Given the description of an element on the screen output the (x, y) to click on. 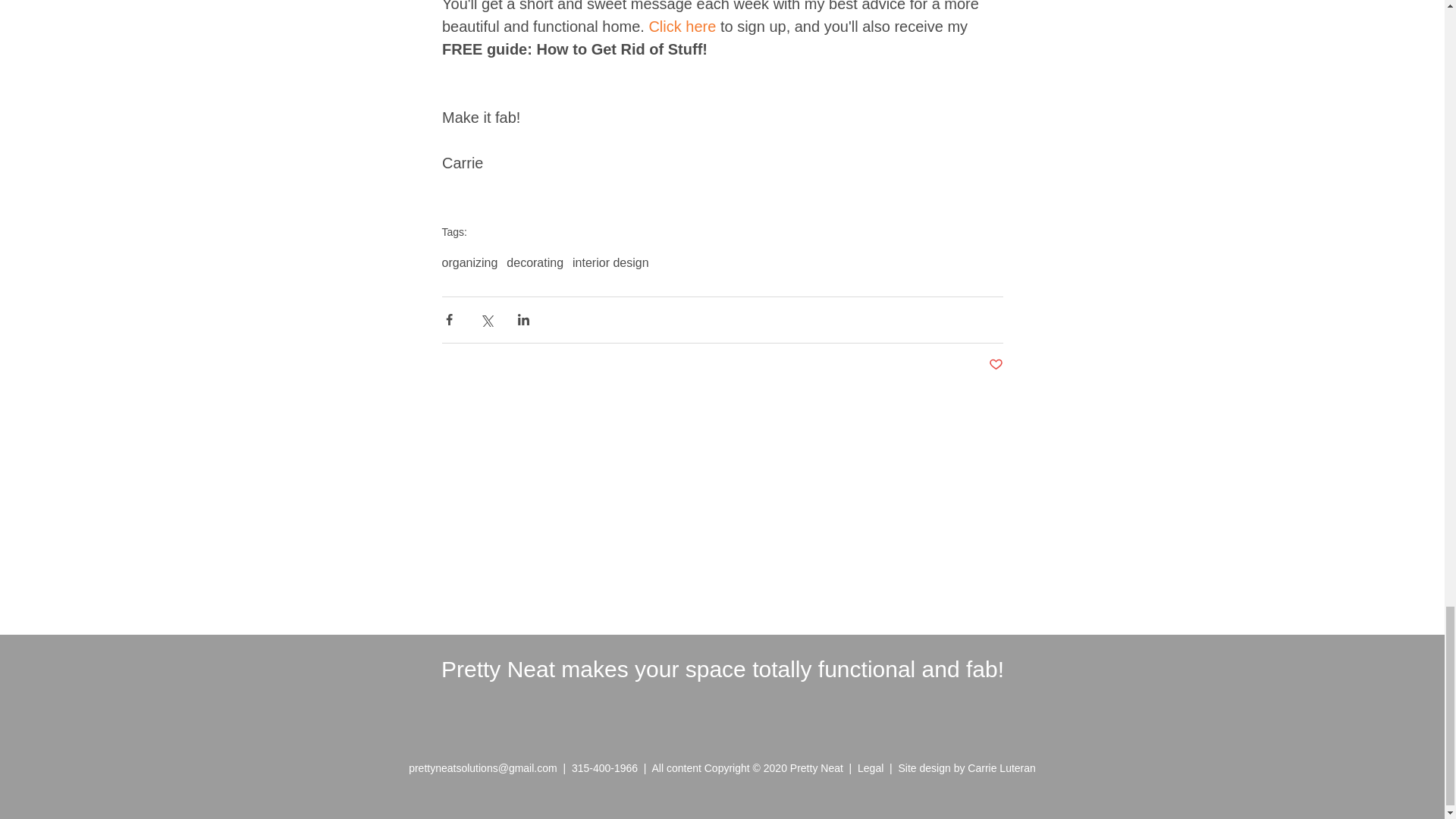
Post not marked as liked (995, 365)
315-400-1966 (604, 767)
Click here (681, 26)
organizing (469, 263)
interior design (610, 263)
decorating (534, 263)
Legal   (873, 767)
